Given the description of an element on the screen output the (x, y) to click on. 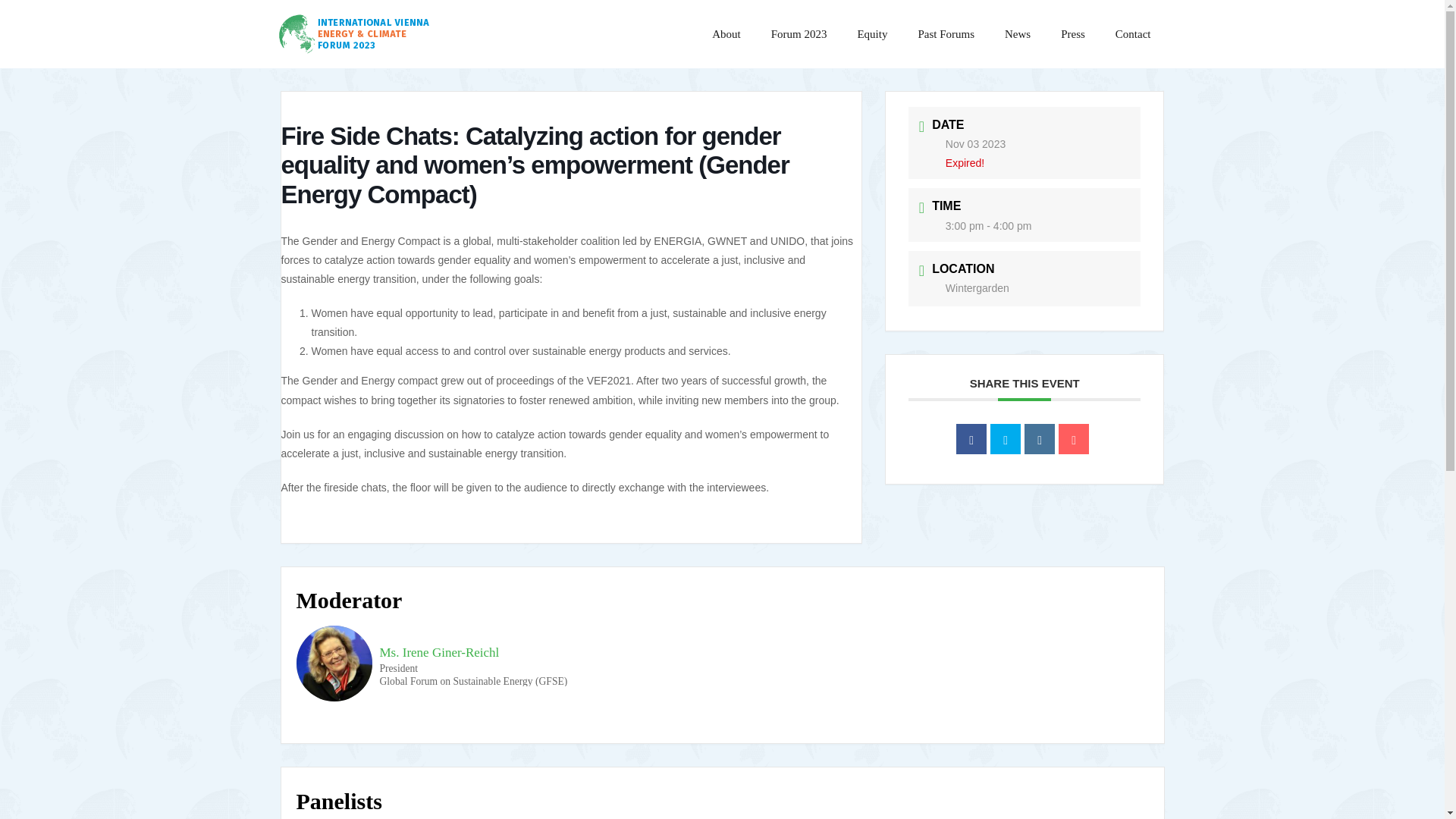
Tweet (1005, 439)
Email (1073, 439)
About (726, 33)
Equity (871, 33)
News (1017, 33)
Share on Facebook (971, 439)
Past Forums (946, 33)
Press (1072, 33)
Contact (1133, 33)
Forum 2023 (799, 33)
Linkedin (1039, 439)
